Given the description of an element on the screen output the (x, y) to click on. 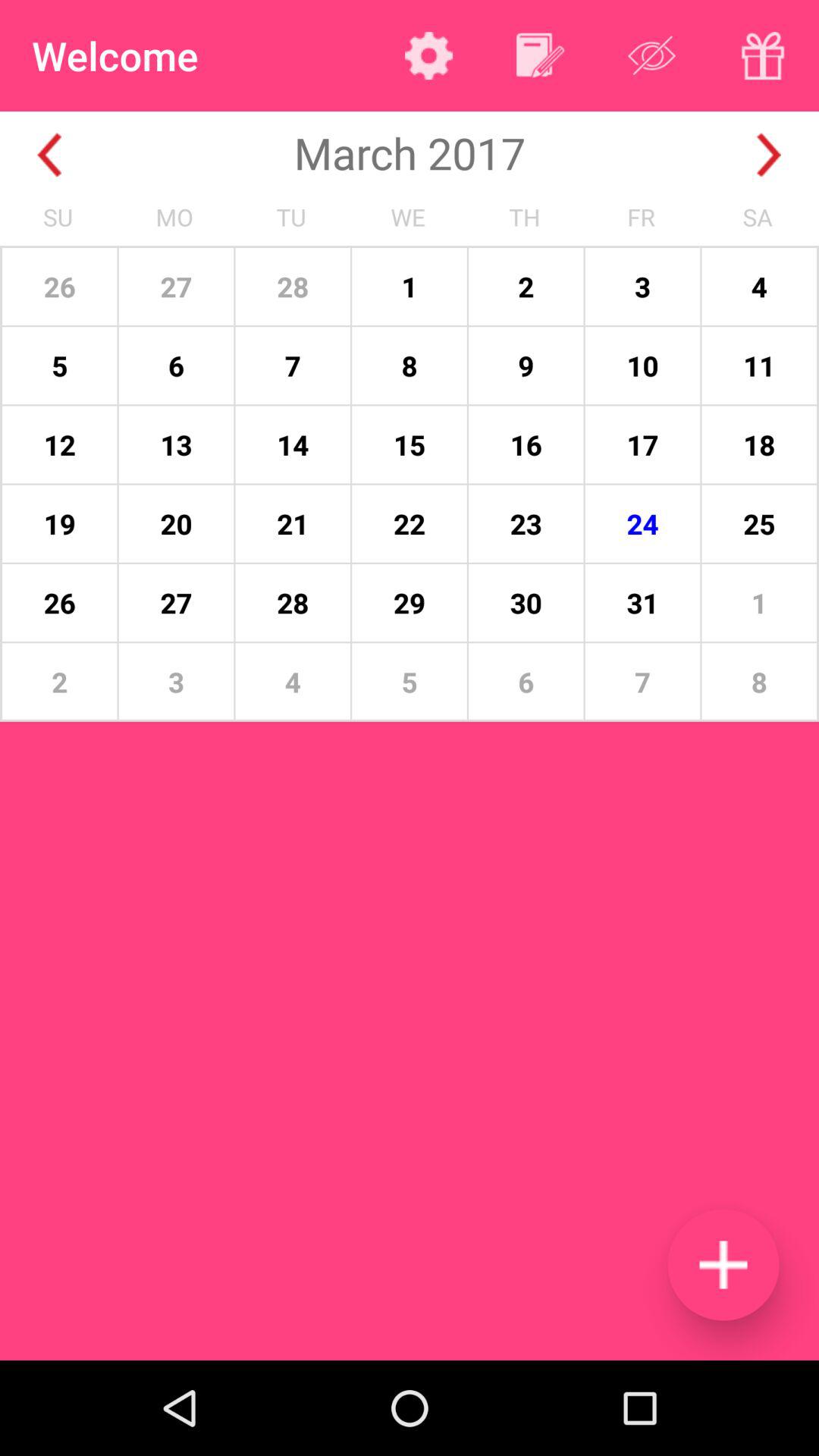
toggle settings option (428, 55)
